Given the description of an element on the screen output the (x, y) to click on. 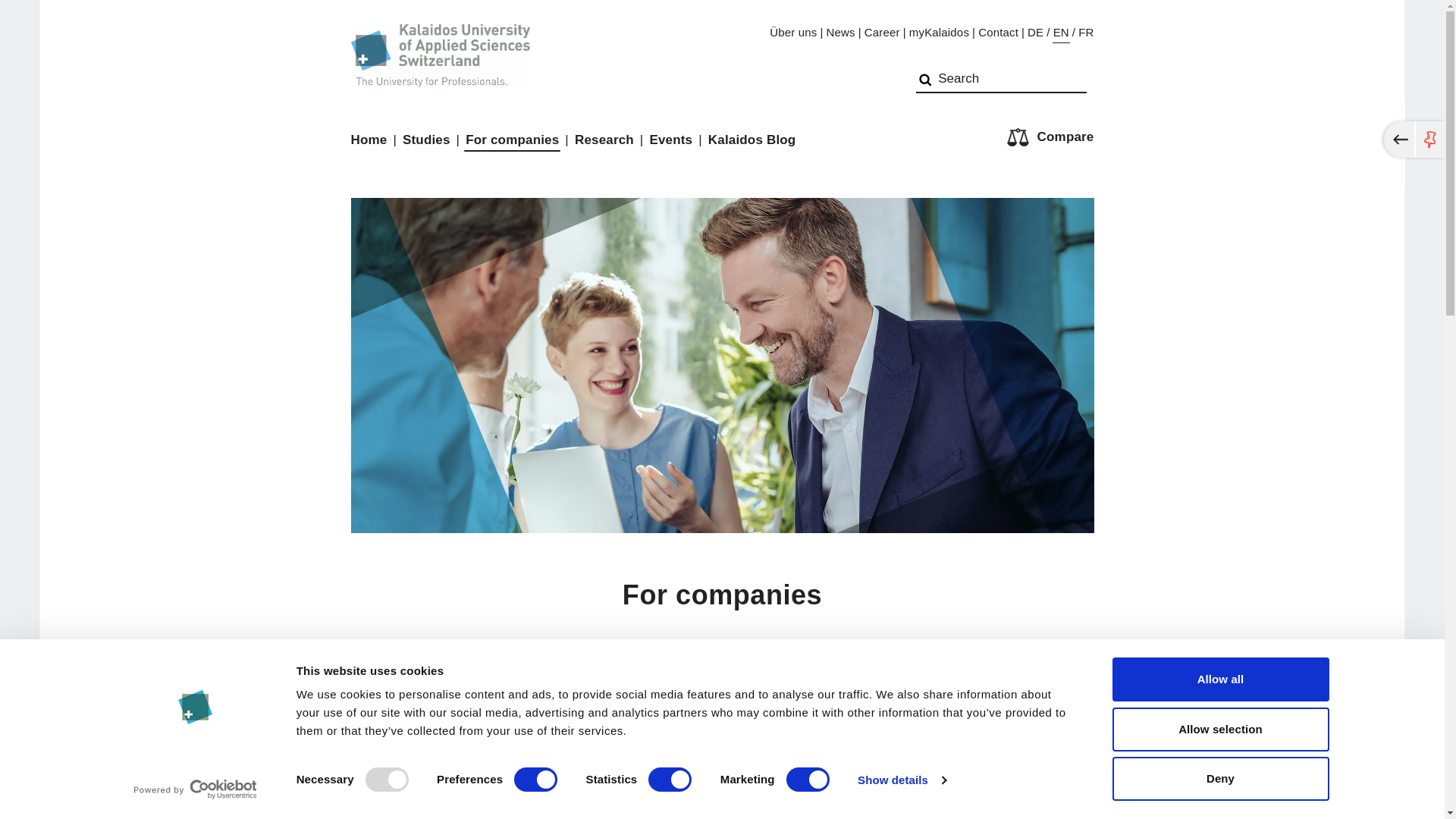
Allow selection (1219, 728)
Kalaidos University of Applied Sciences (439, 45)
Deny (1219, 778)
Show details (900, 780)
Allow all (1219, 679)
Contact (997, 32)
